Given the description of an element on the screen output the (x, y) to click on. 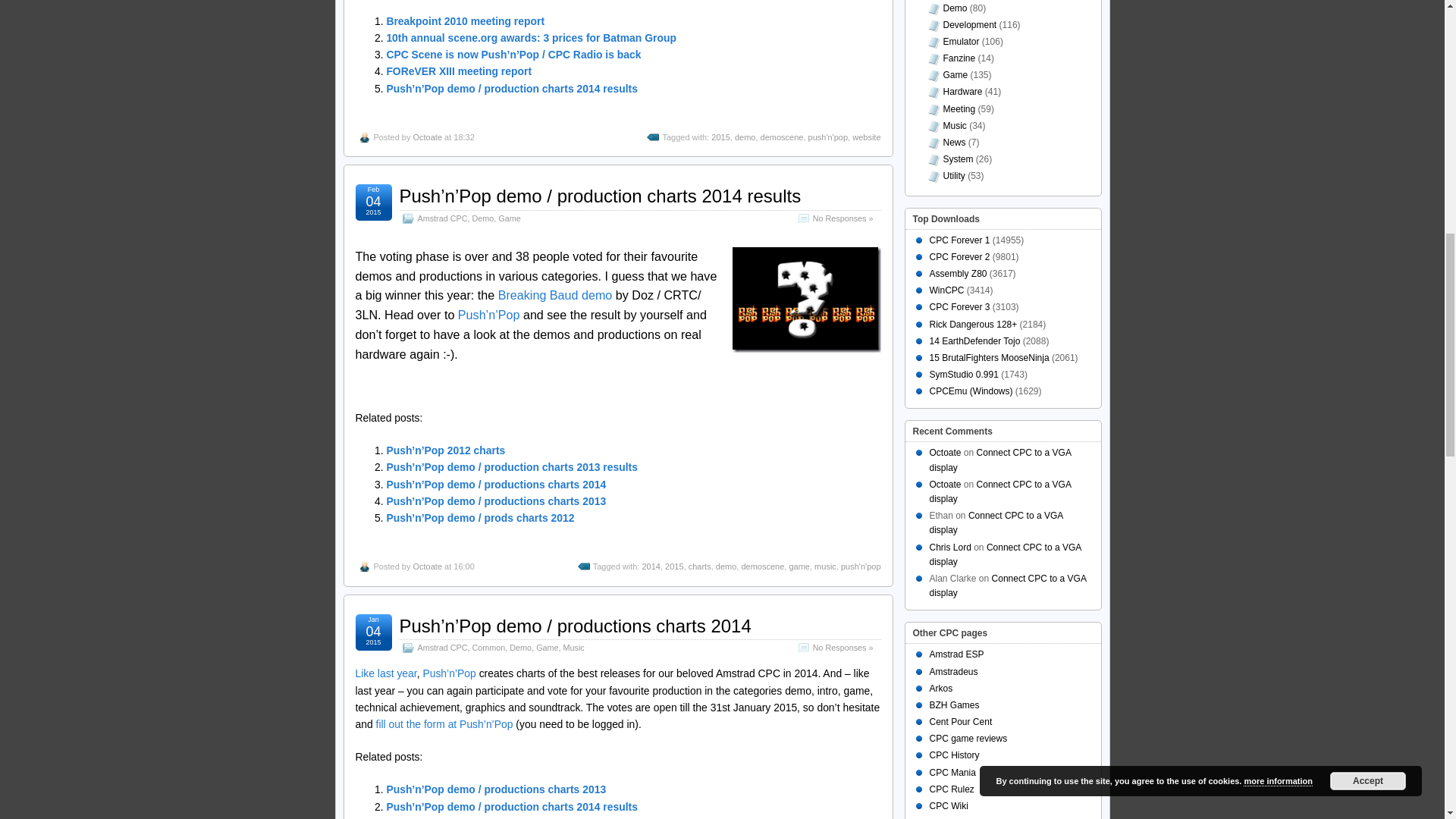
Amstrad CPC: Push'n'Pop charts 2013 (488, 314)
demoscene (781, 136)
Octoate (427, 136)
FOReVER XIII meeting report (458, 70)
Game (508, 217)
2015 (720, 136)
website (865, 136)
FOReVER XIII meeting report (458, 70)
demo (745, 136)
Breakpoint 2010 meeting report (464, 21)
